Given the description of an element on the screen output the (x, y) to click on. 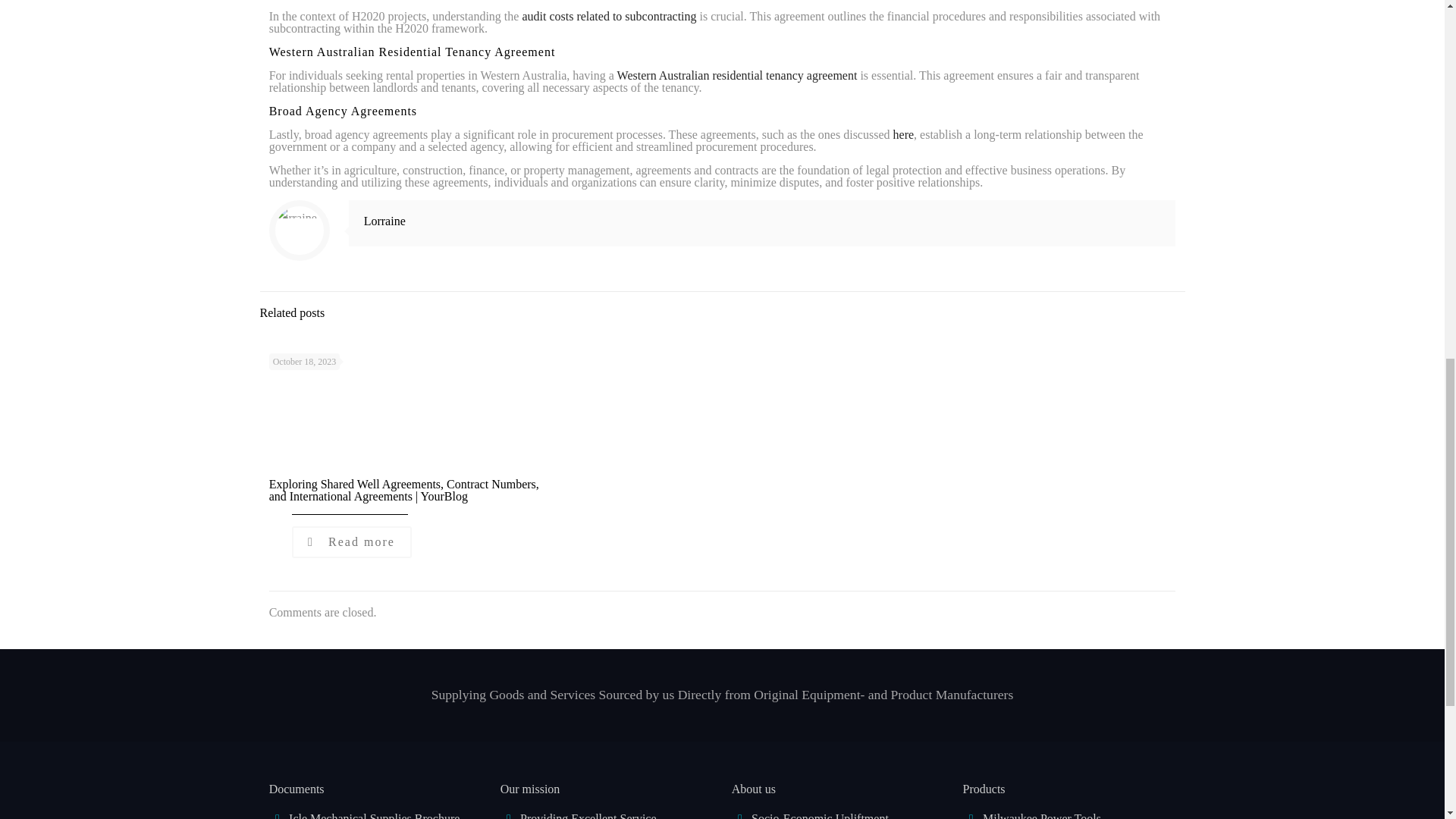
Read more (352, 541)
Western Australian residential tenancy agreement (737, 74)
audit costs related to subcontracting (608, 15)
here (903, 133)
Providing Excellent Service (587, 815)
Socio-Economic Upliftment (819, 815)
Icle Mechanical Supplies Brochure (374, 815)
Lorraine (385, 220)
